Given the description of an element on the screen output the (x, y) to click on. 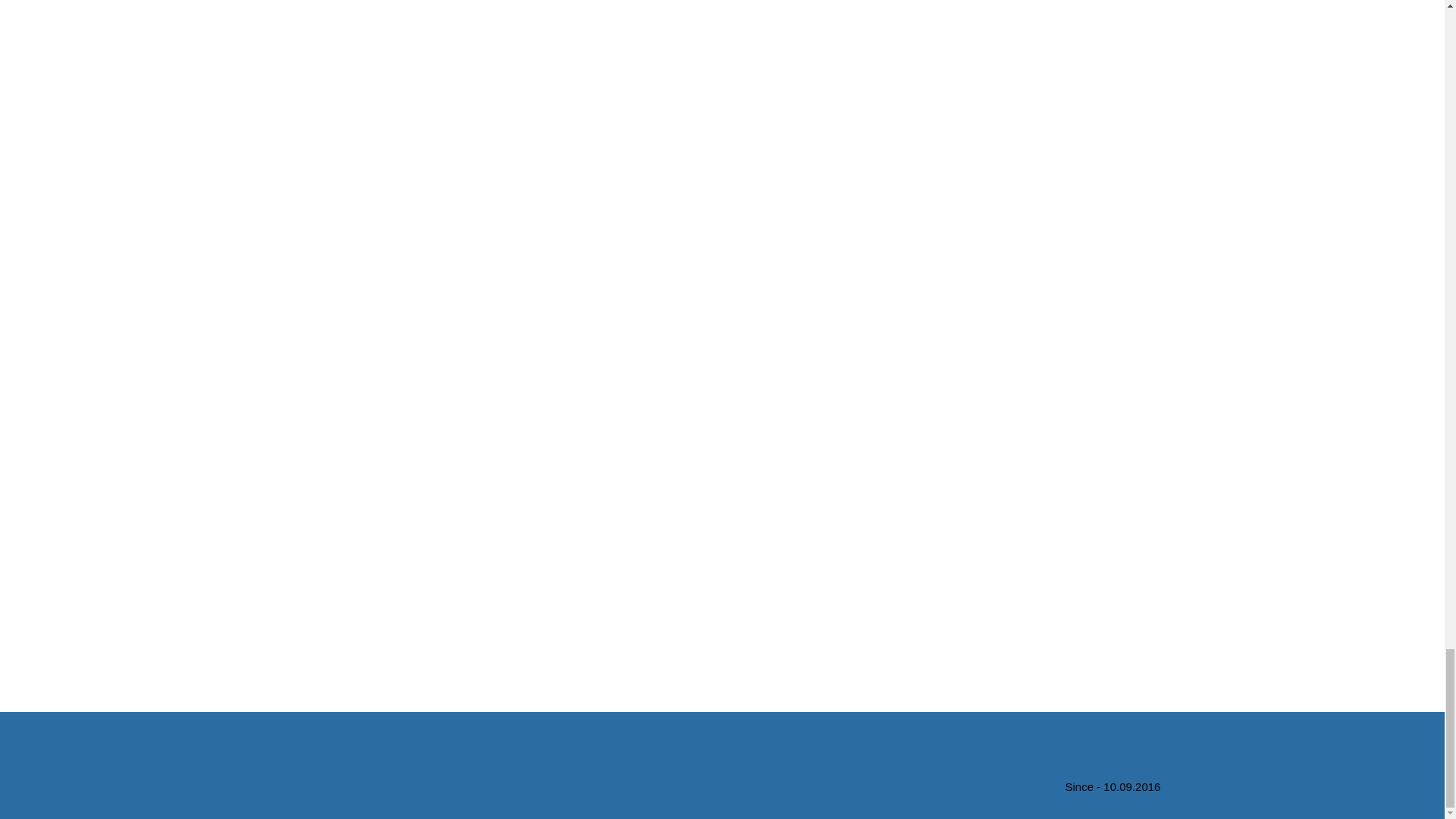
Curtir do Facebook (473, 760)
